Given the description of an element on the screen output the (x, y) to click on. 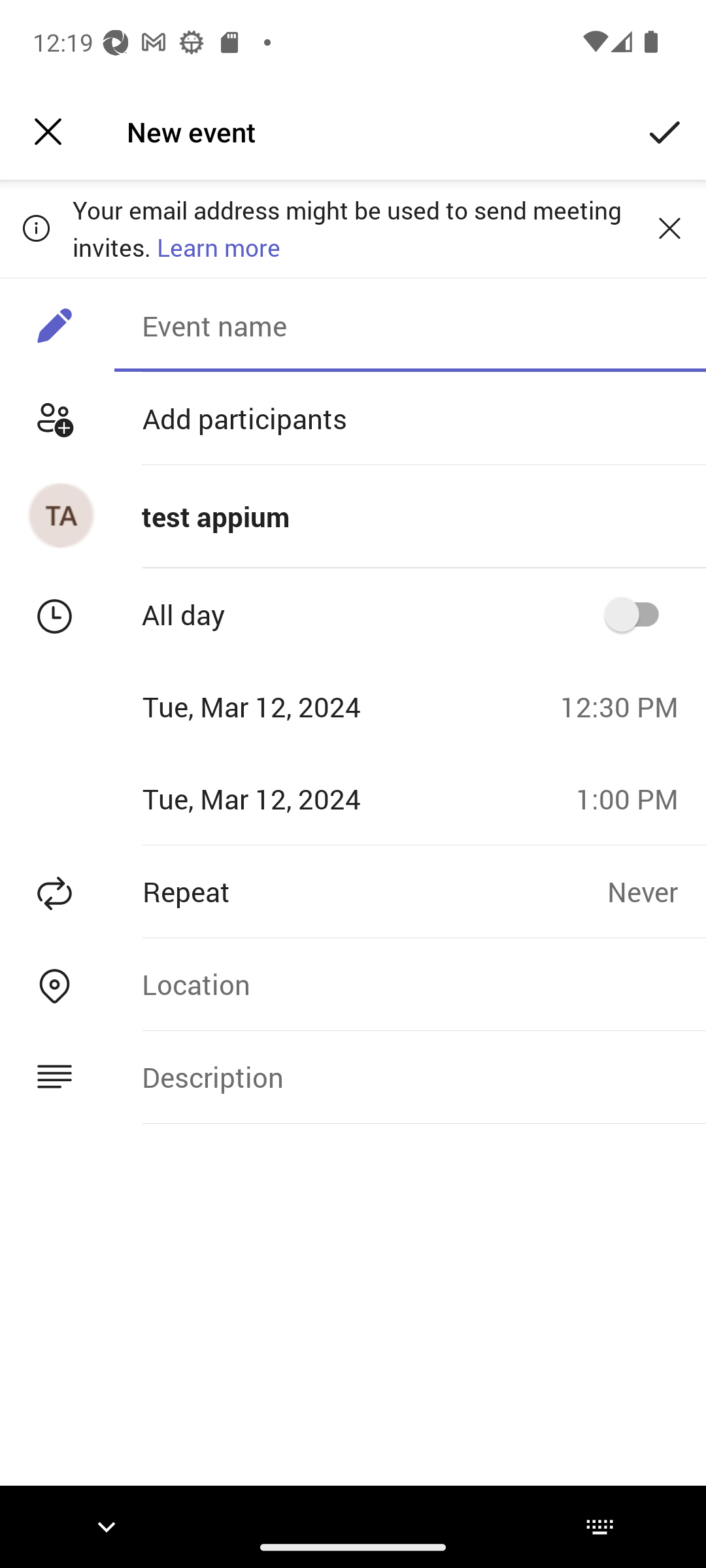
Back (48, 131)
Send invite (665, 131)
Dismiss banner (669, 228)
Event name (410, 325)
Add participants Add participants option (353, 418)
All day (638, 614)
Tue, Mar 12, 2024 Starts Tuesday Mar 12, 2024 (273, 706)
12:30 PM Start time 12:30 PM (626, 706)
Tue, Mar 12, 2024 Ends Tuesday Mar 12, 2024 (280, 798)
1:00 PM End time 1:00 PM (633, 798)
Repeat (303, 891)
Never Repeat Never (656, 891)
Location (410, 983)
Description (410, 1076)
